Given the description of an element on the screen output the (x, y) to click on. 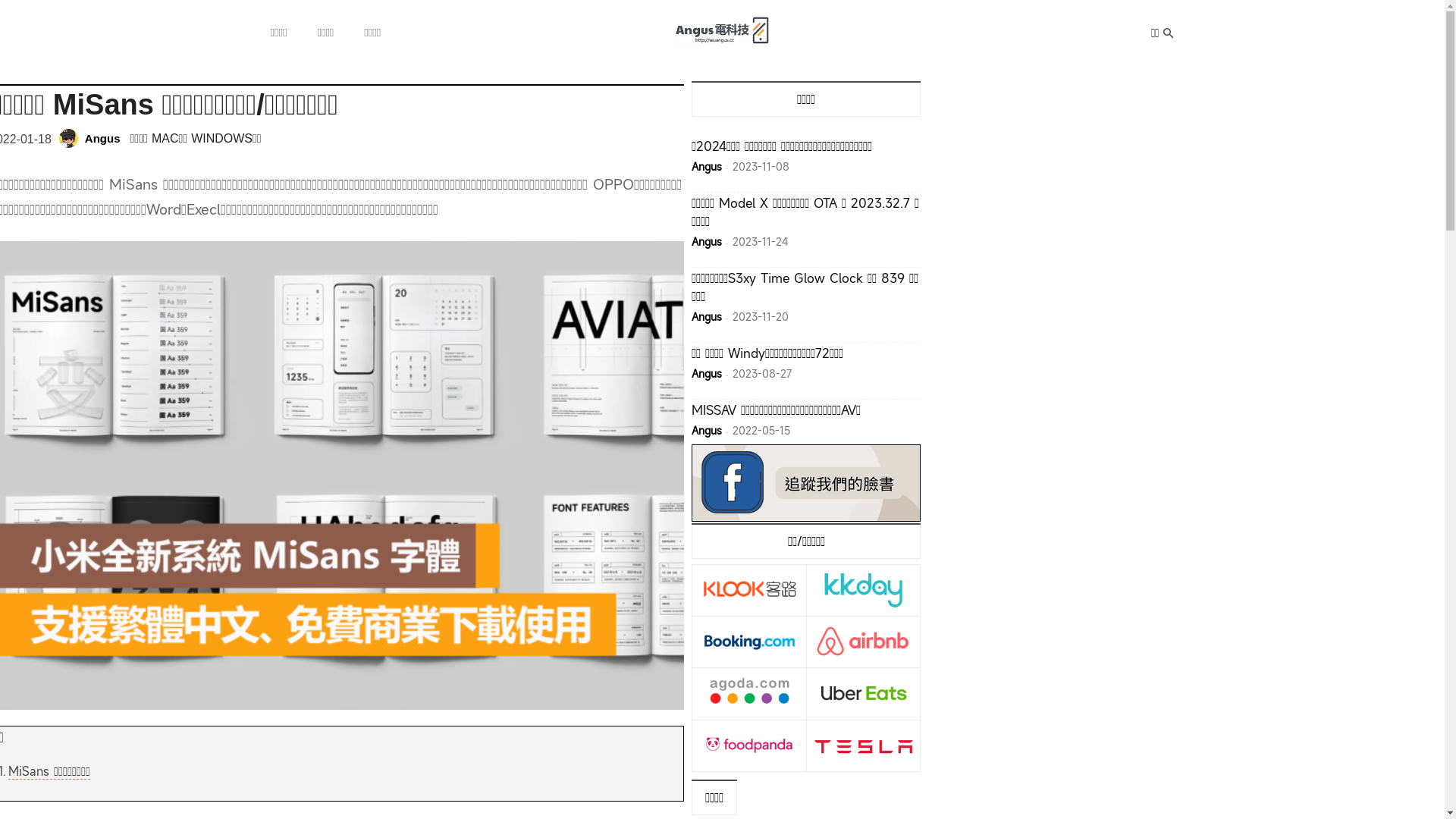
Angus Element type: text (102, 138)
Angus Element type: text (706, 166)
Angus Element type: text (706, 430)
Angus Element type: text (706, 373)
Angus Element type: text (706, 241)
Angus Element type: hover (70, 137)
Angus Element type: text (706, 316)
